Given the description of an element on the screen output the (x, y) to click on. 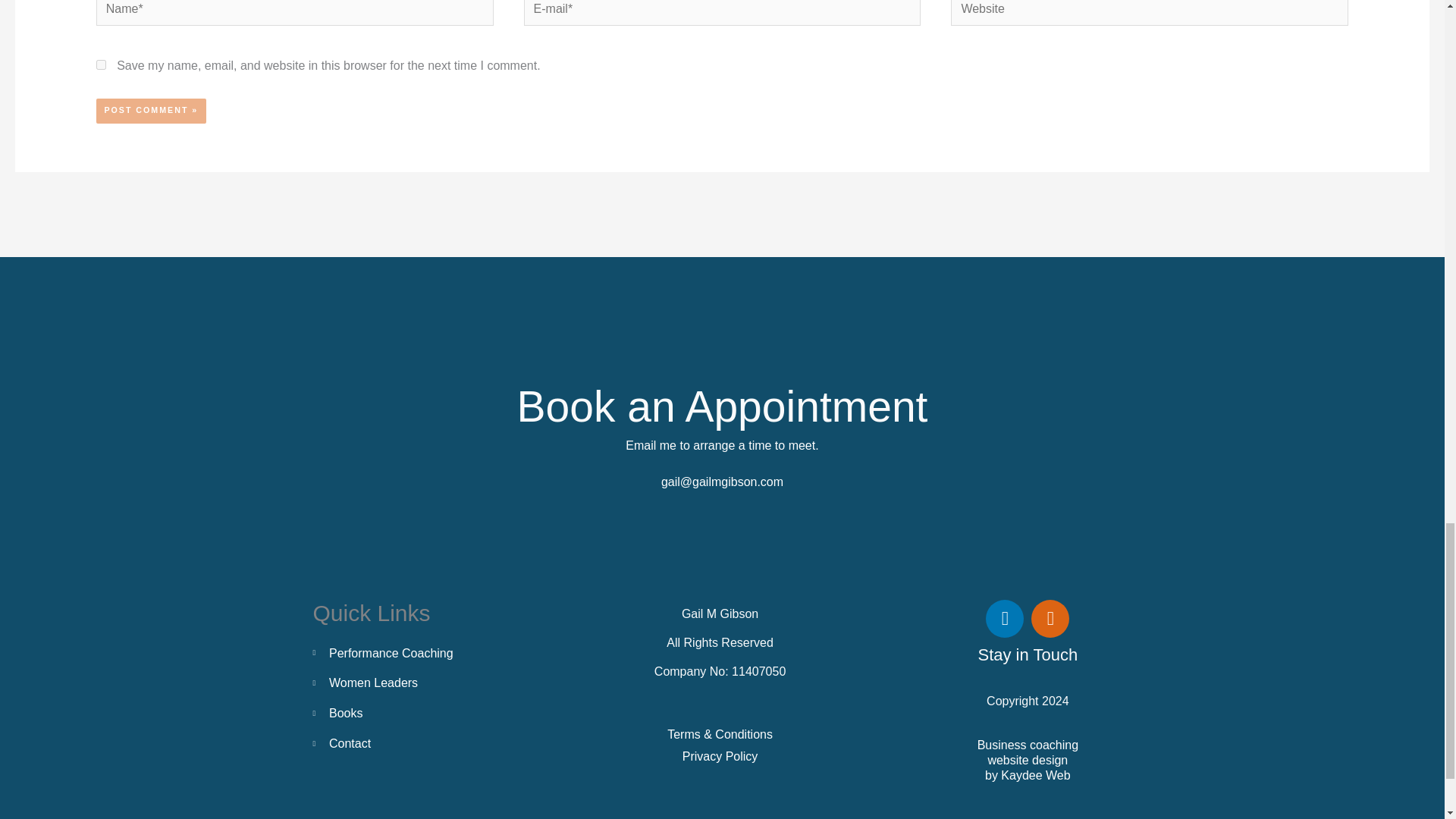
Envelope (1049, 618)
Contact (413, 743)
yes (101, 64)
Performance Coaching (413, 653)
Privacy Policy (719, 756)
Women Leaders (413, 682)
Linkedin (1004, 618)
Books (413, 712)
